Given the description of an element on the screen output the (x, y) to click on. 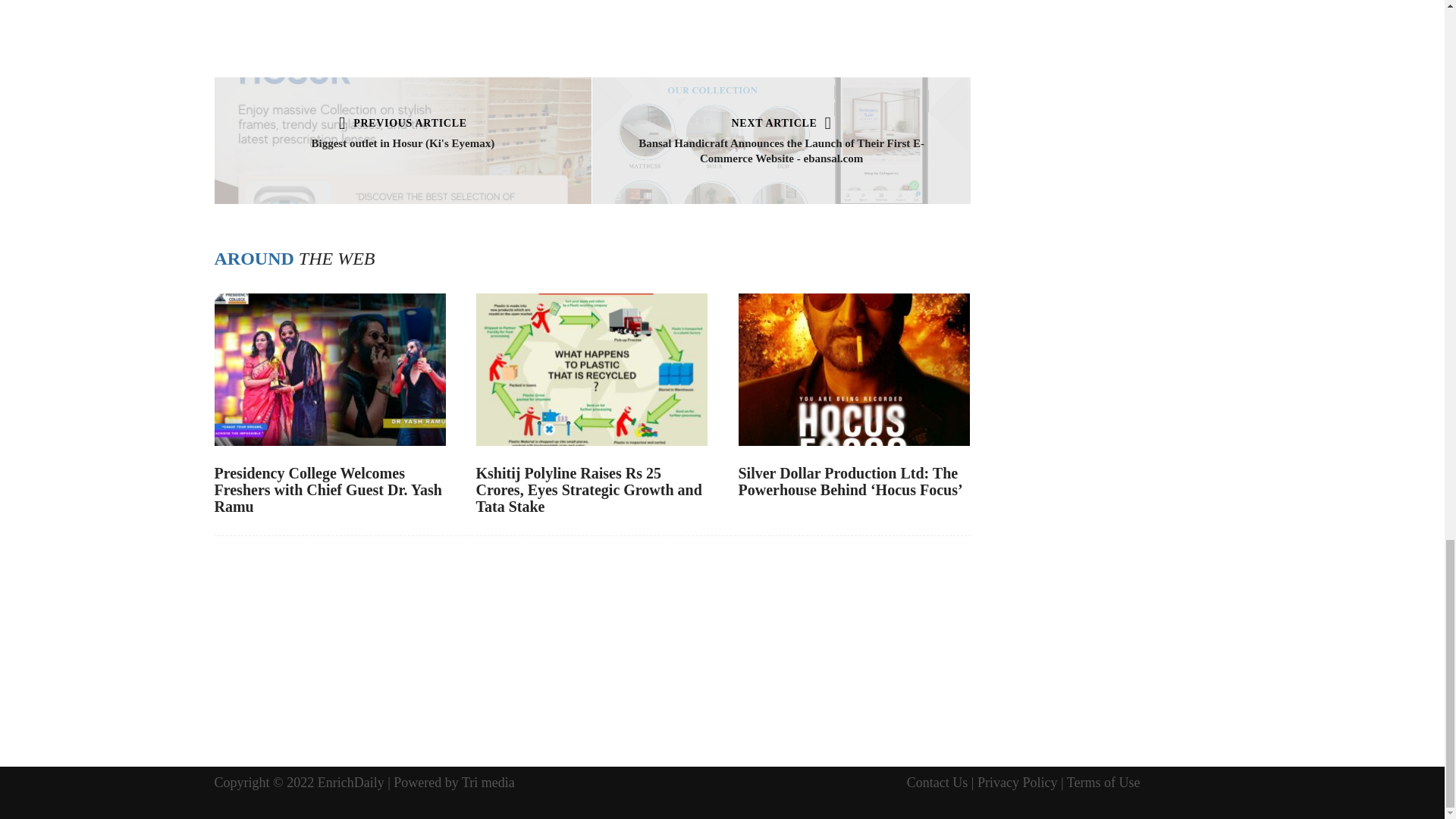
PREVIOUS ARTICLE (403, 122)
NEXT ARTICLE (781, 122)
Previous Article (403, 122)
3rd party ad content (618, 20)
